Given the description of an element on the screen output the (x, y) to click on. 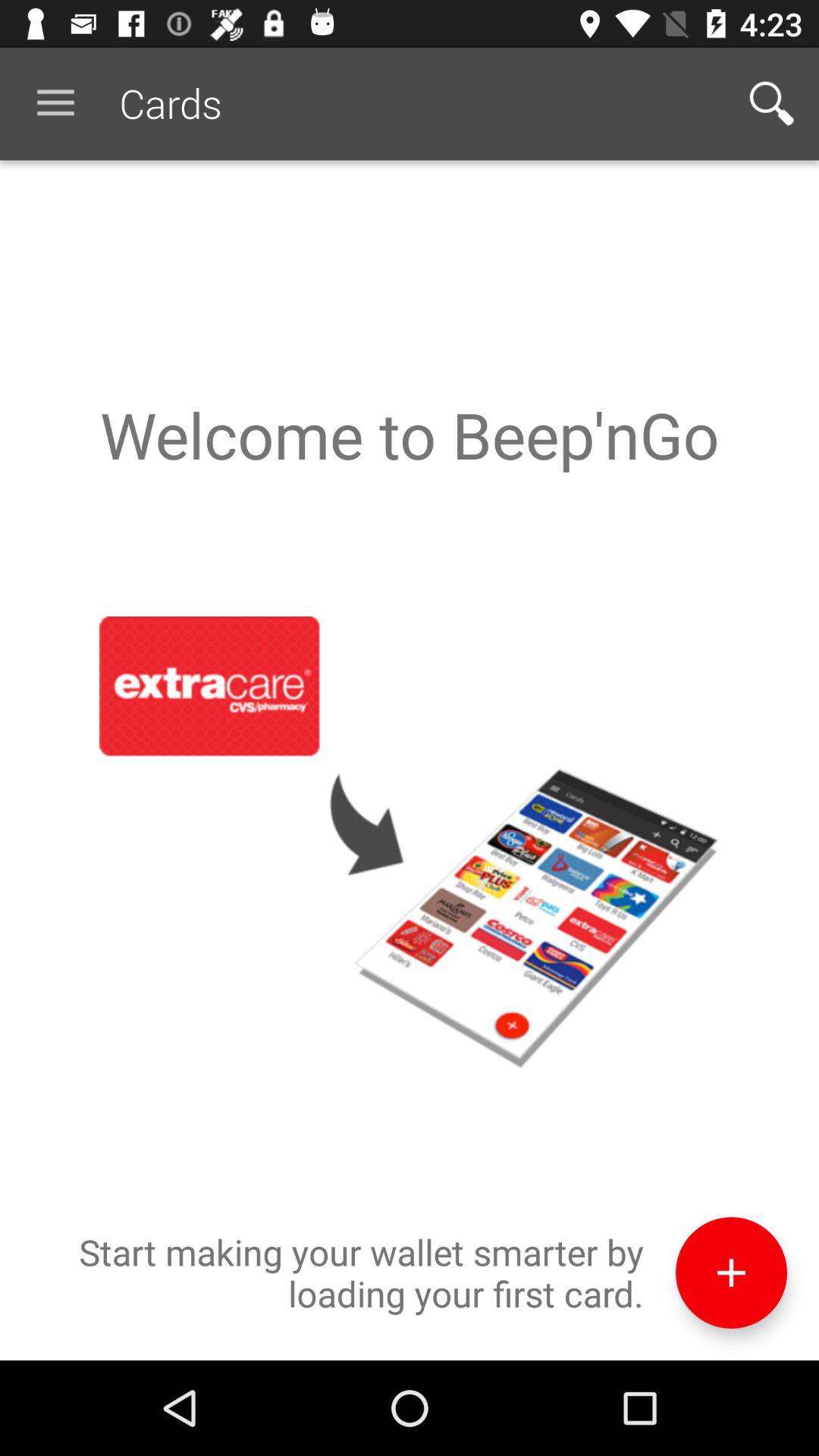
open the app next to the cards icon (771, 103)
